Given the description of an element on the screen output the (x, y) to click on. 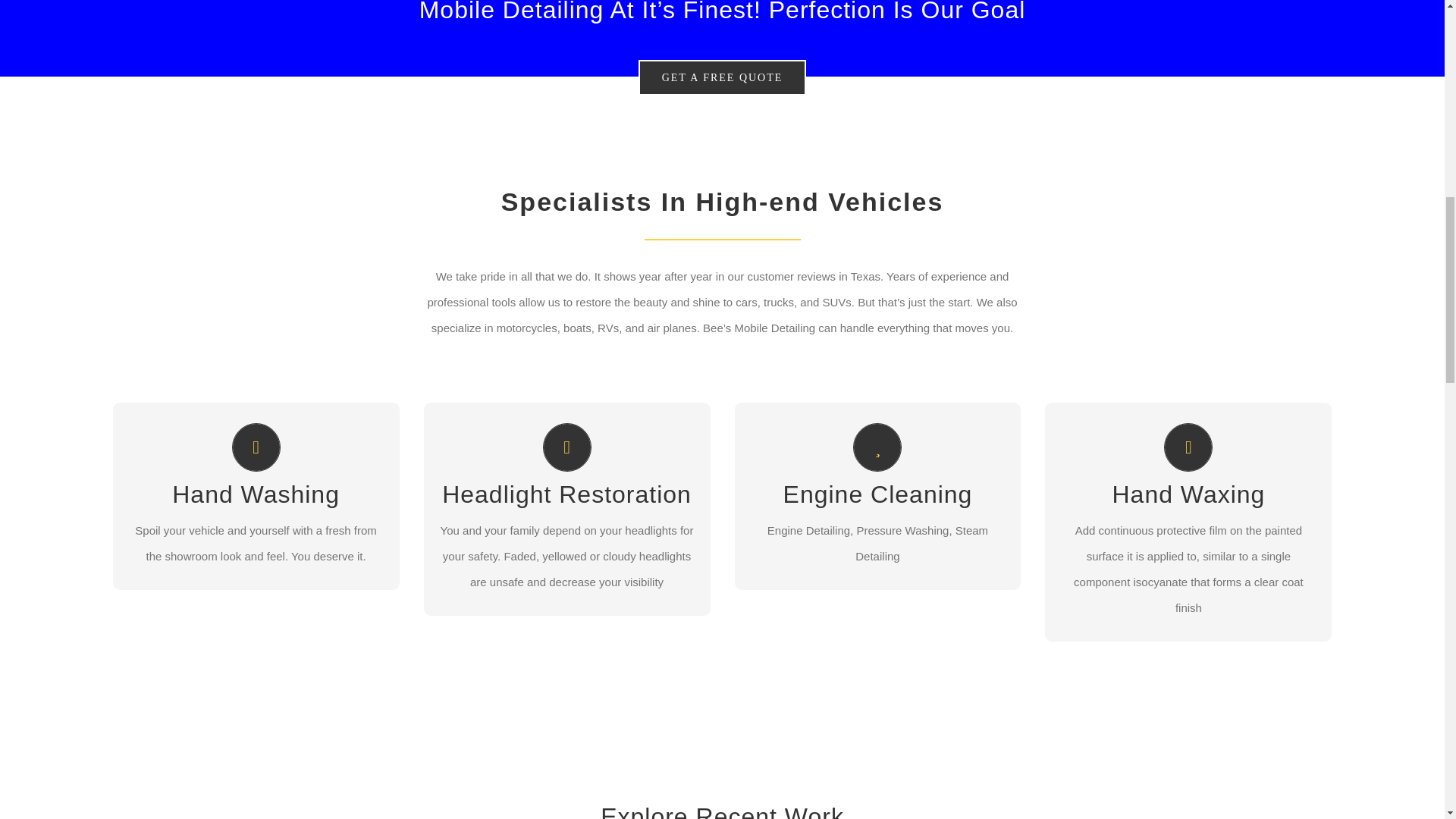
GET A QUOTE (566, 558)
GET A FREE QUOTE (722, 77)
GET A QUOTE (1188, 584)
GET A QUOTE (877, 558)
GET A QUOTE (256, 558)
